Given the description of an element on the screen output the (x, y) to click on. 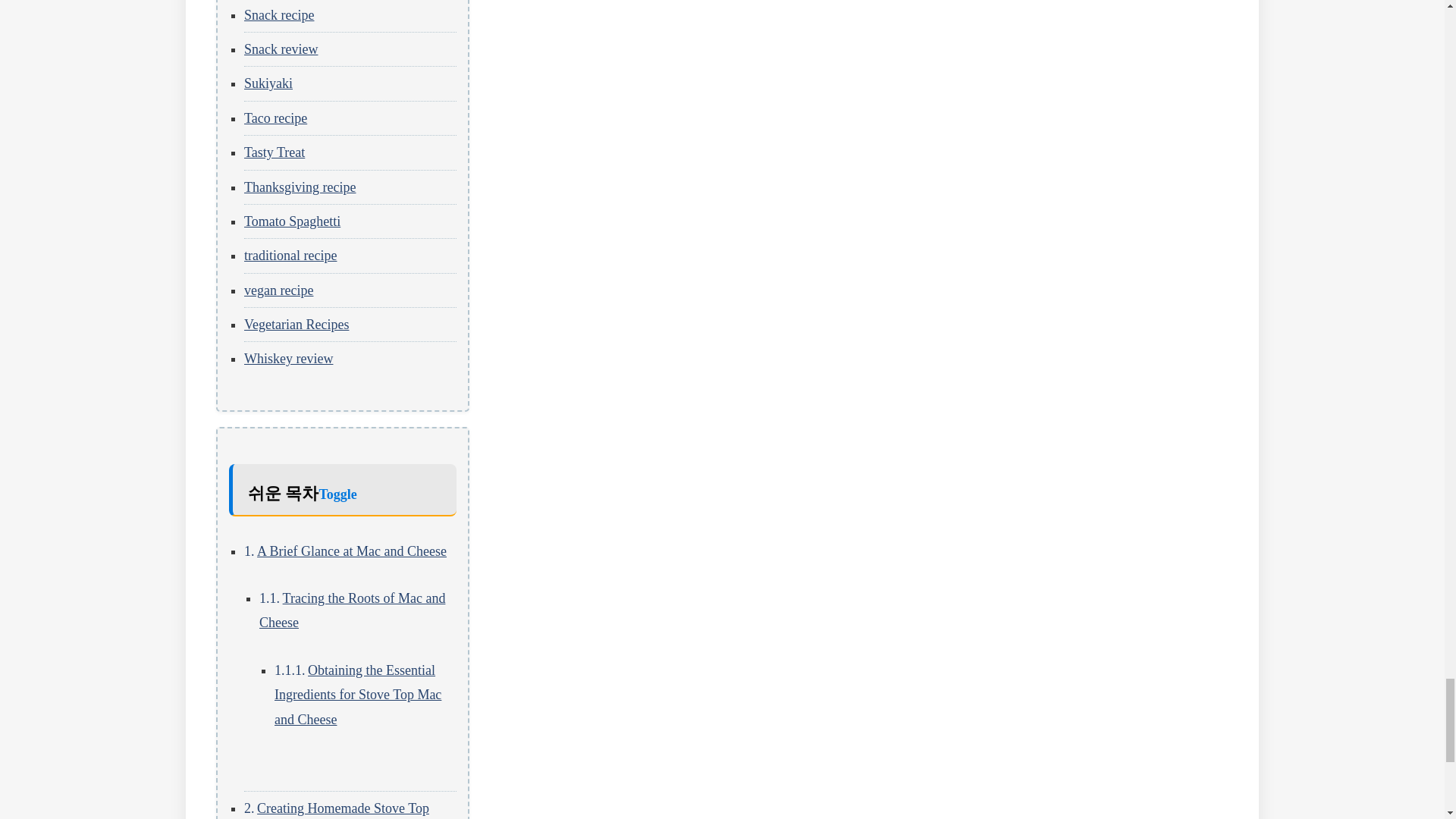
Tracing the Roots of Mac and Cheese (352, 609)
A Brief Glance at Mac and Cheese (351, 550)
